Given the description of an element on the screen output the (x, y) to click on. 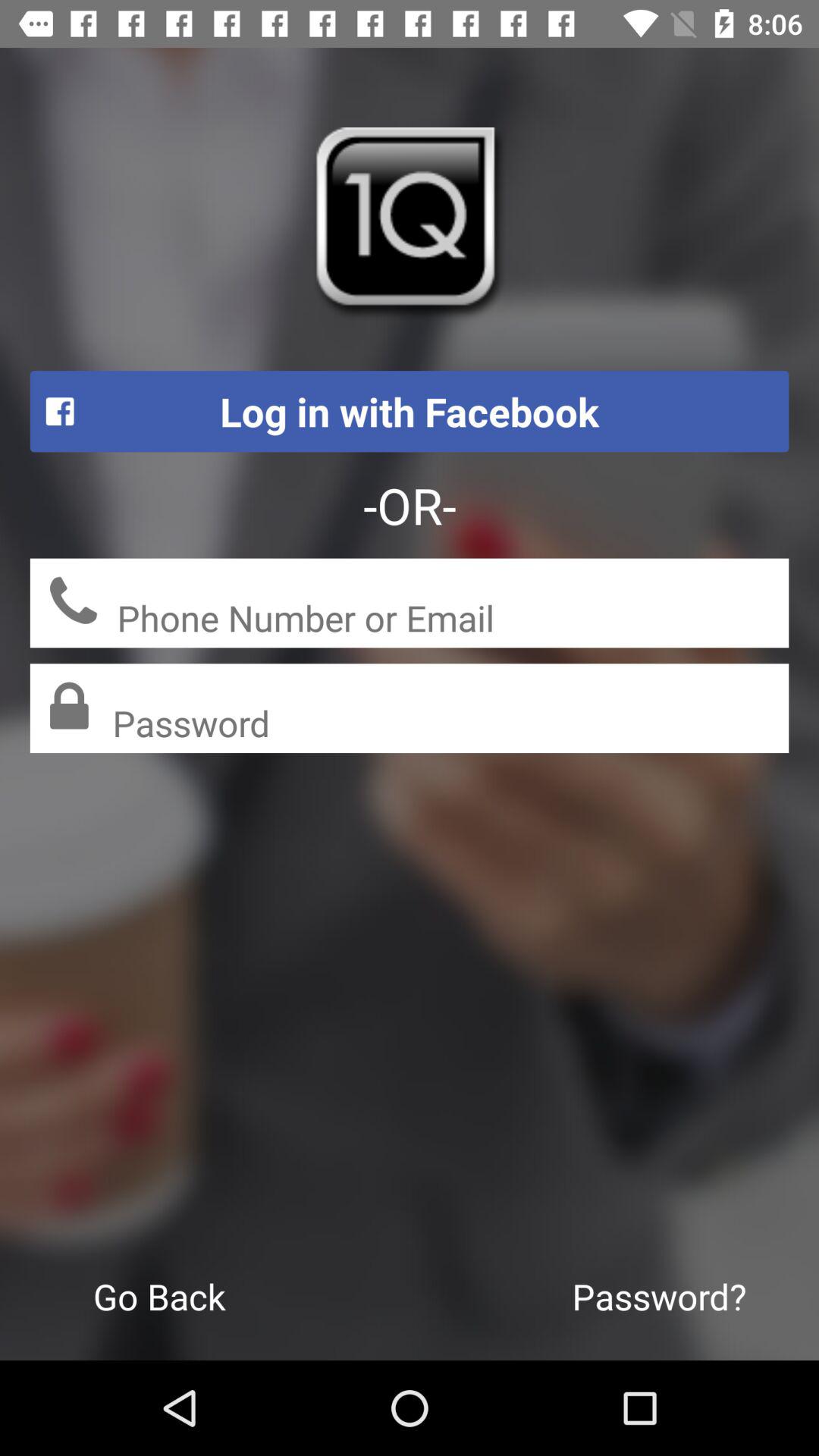
press item below -or- icon (452, 619)
